Given the description of an element on the screen output the (x, y) to click on. 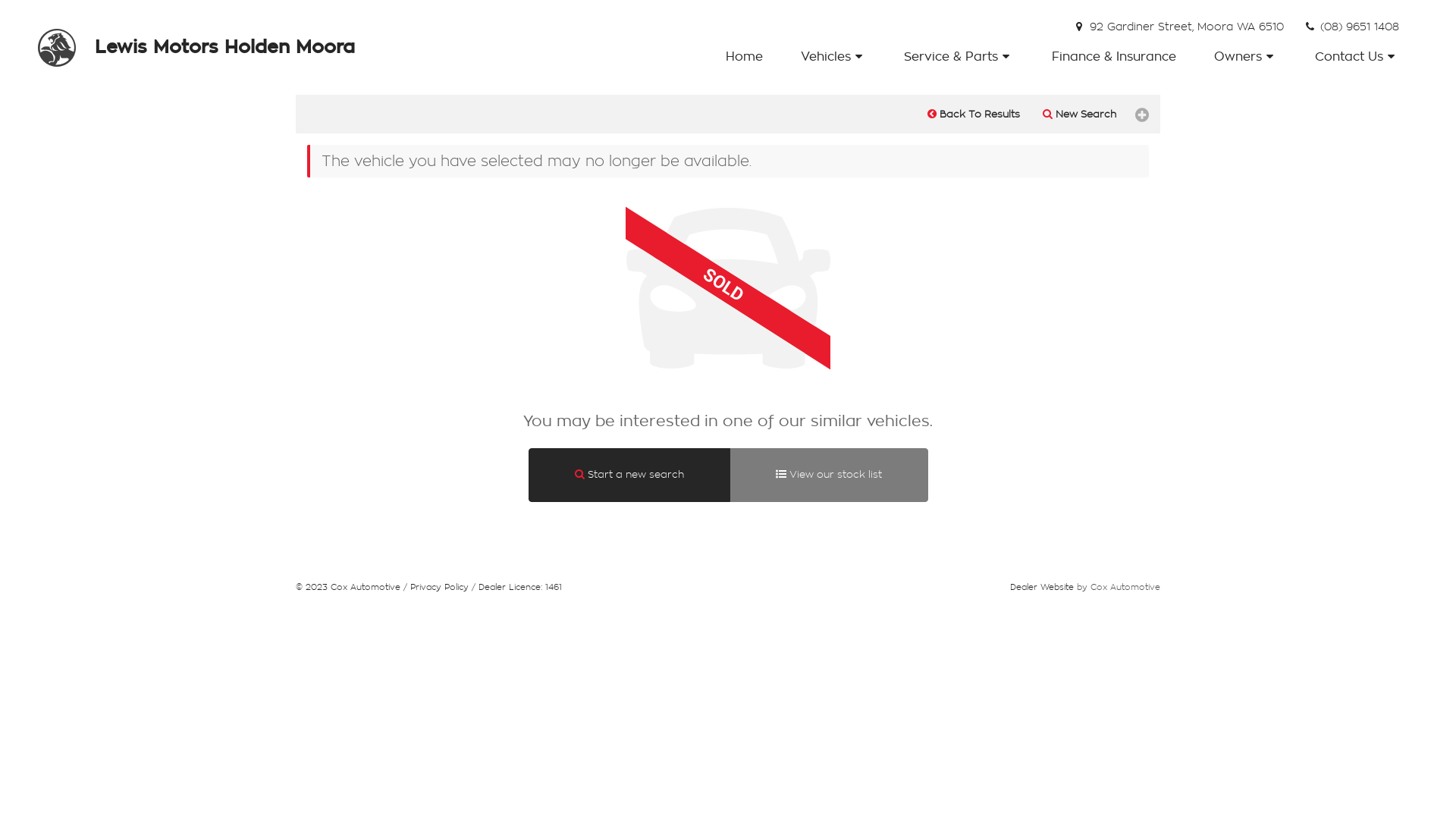
Owners Element type: text (1245, 56)
Vehicles Element type: text (833, 56)
Dealer Website Element type: text (1041, 587)
View our stock list Element type: text (828, 475)
Finance & Insurance Element type: text (1113, 56)
Contact Us Element type: text (1356, 56)
Back To Results Element type: text (973, 114)
New Search Element type: text (1079, 114)
Start a new search Element type: text (628, 475)
(08) 9651 1408 Element type: text (1350, 26)
Privacy Policy Element type: text (439, 587)
92 Gardiner Street, Moora WA 6510 Element type: text (1177, 26)
Service & Parts Element type: text (958, 56)
Home Element type: text (745, 56)
